Given the description of an element on the screen output the (x, y) to click on. 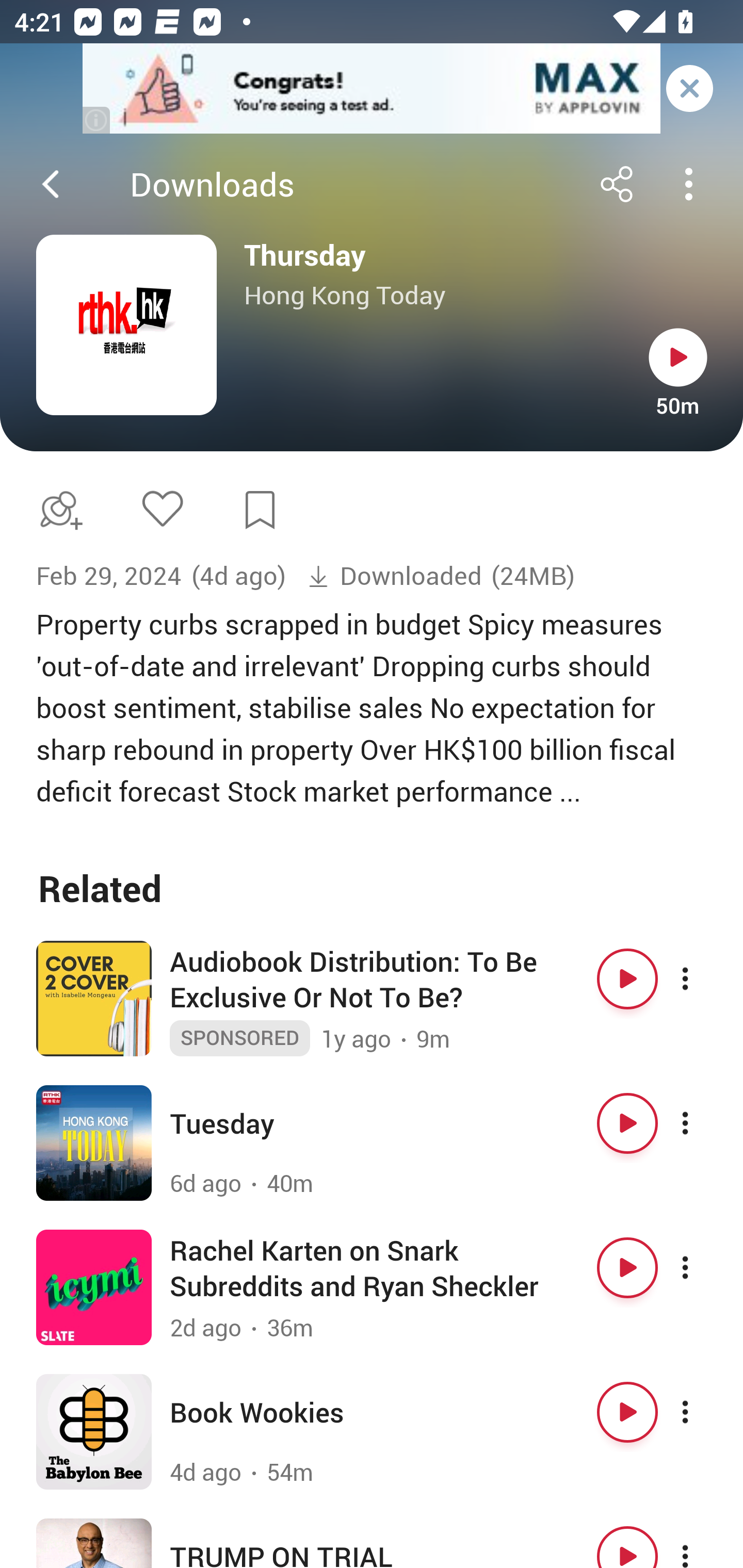
app-monetization (371, 88)
(i) (96, 119)
Back (50, 184)
Open series (126, 325)
Play button (677, 357)
Like (161, 507)
Add episode to Play Later (57, 509)
New bookmark … (259, 510)
Downloaded (394, 576)
Play button (627, 979)
More options (703, 979)
Play button (627, 1123)
More options (703, 1123)
Play button (627, 1267)
More options (703, 1267)
Play button (627, 1411)
More options (703, 1411)
Play button (627, 1542)
More options (703, 1542)
